Given the description of an element on the screen output the (x, y) to click on. 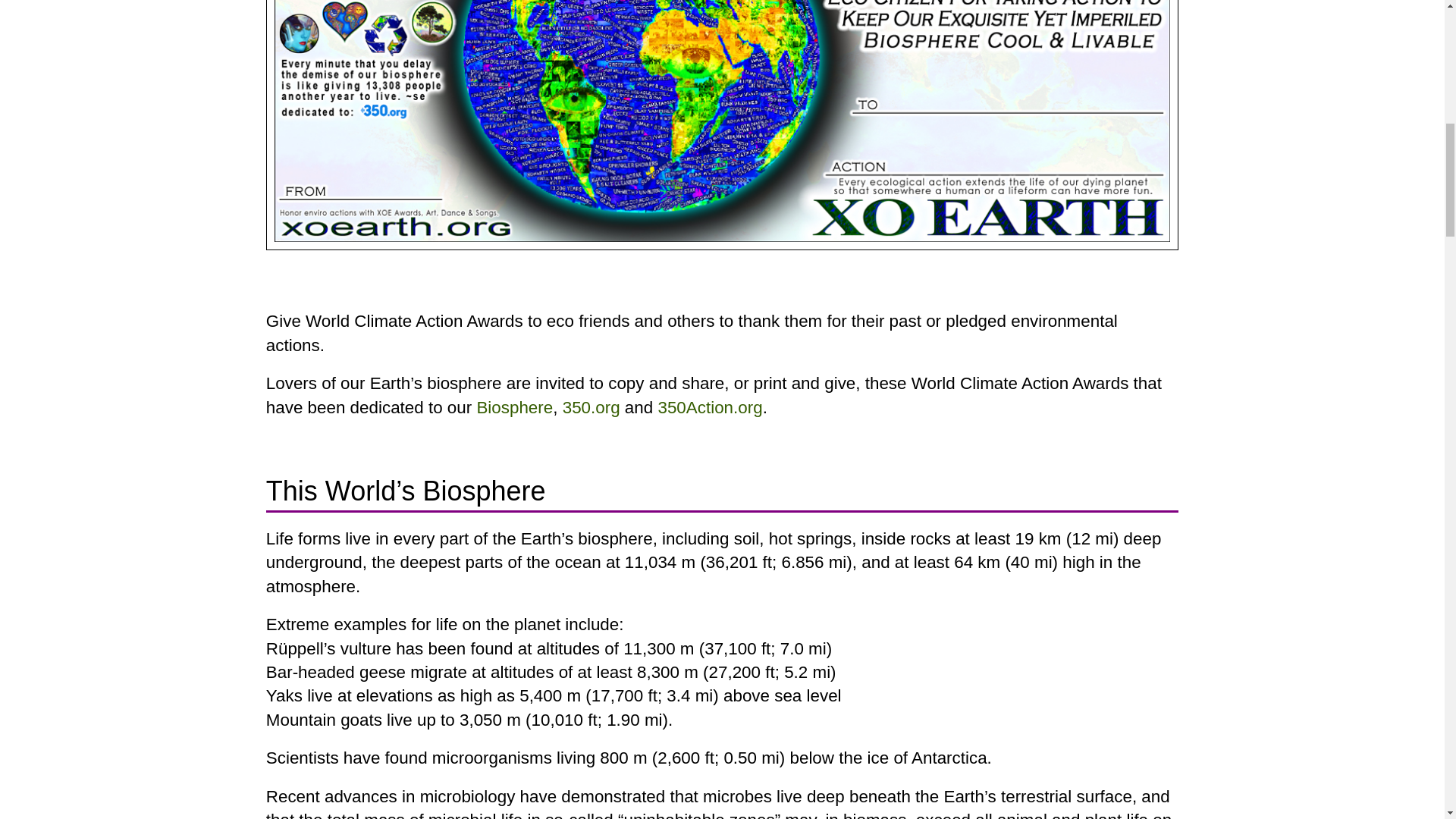
350Action.org (709, 407)
350.org (591, 407)
Biosphere (514, 407)
